Given the description of an element on the screen output the (x, y) to click on. 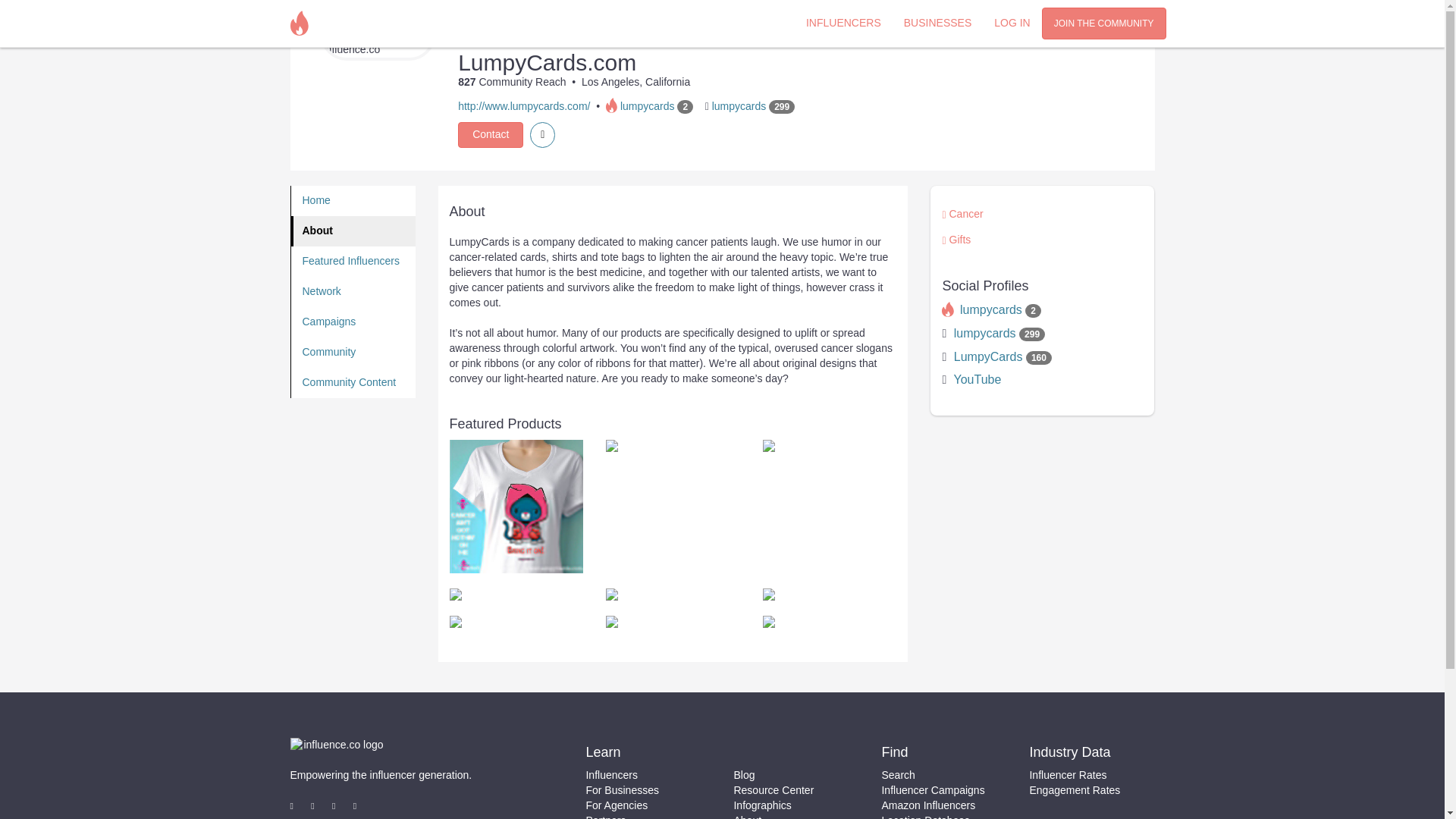
Community (352, 352)
lumpycards (984, 332)
About (352, 231)
Community Content (352, 382)
lumpycards (647, 105)
JOIN THE COMMUNITY (1104, 23)
Home (352, 200)
Gifts (960, 239)
INFLUENCERS (843, 22)
lumpycards (990, 309)
